Given the description of an element on the screen output the (x, y) to click on. 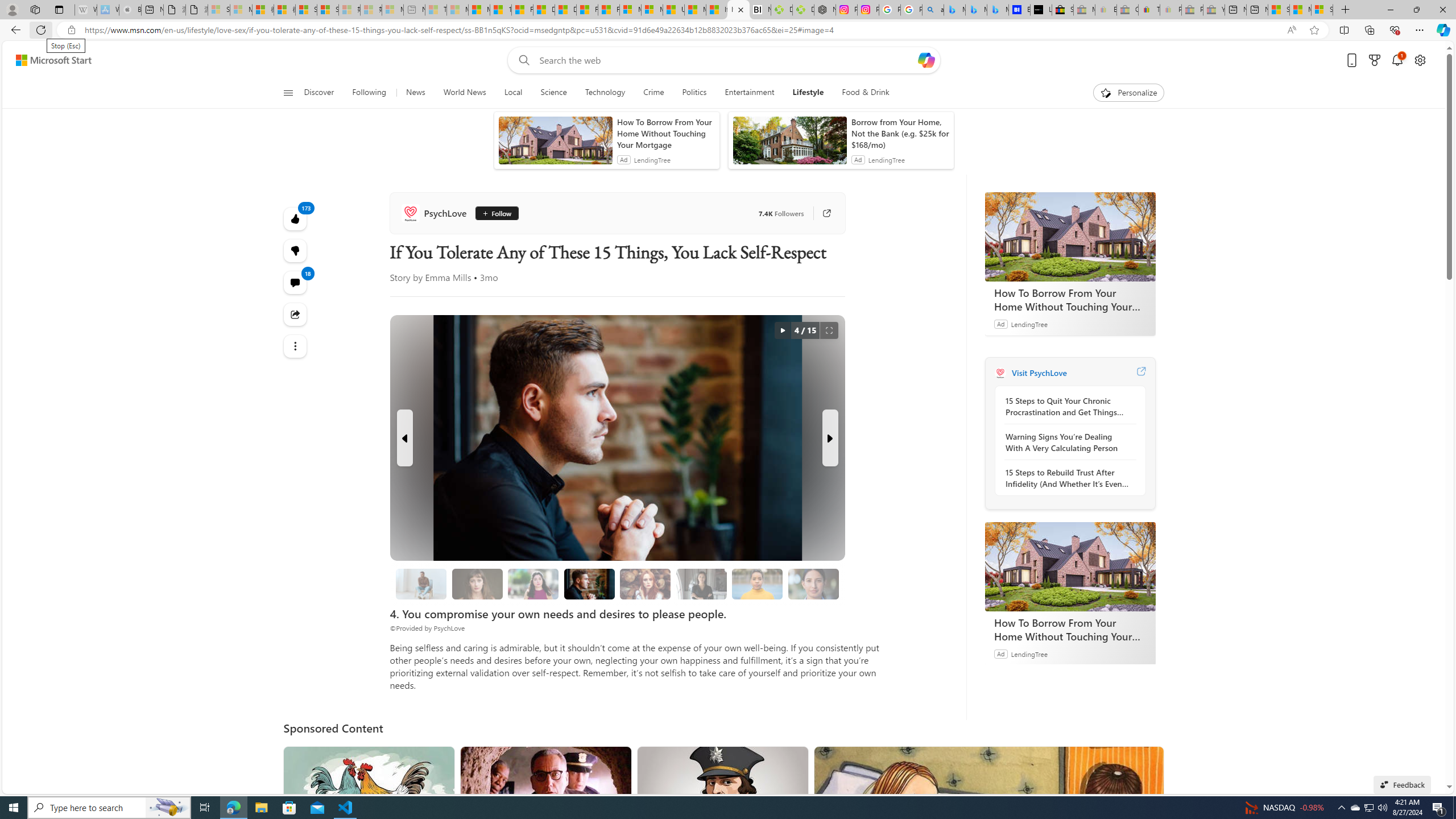
Borrow from Your Home, Not the Bank (e.g. $25k for $168/mo) (899, 133)
4. You can name and understand your feelings. (533, 583)
8. Surround yourself with solution-oriented people. (701, 583)
